Given the description of an element on the screen output the (x, y) to click on. 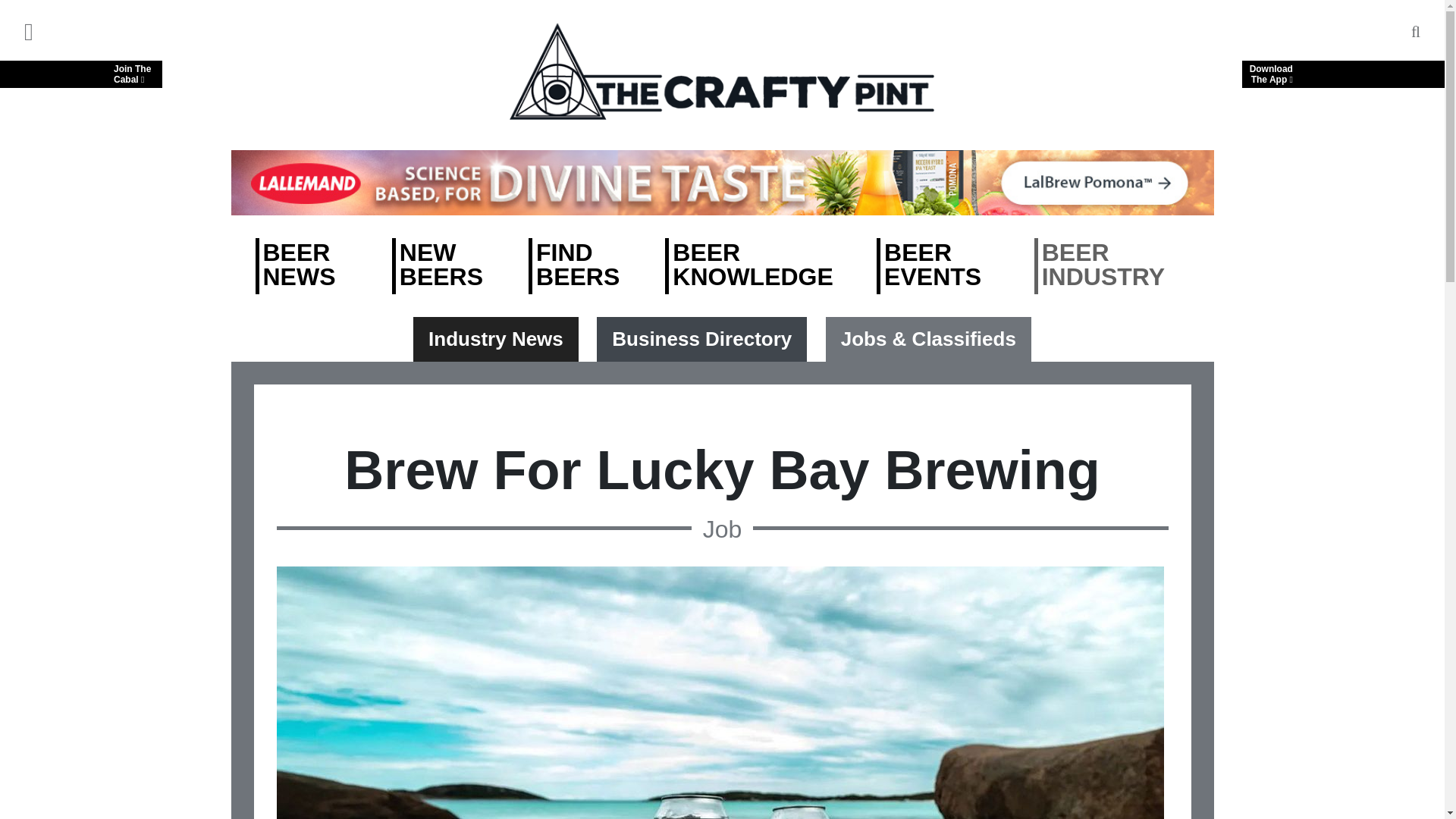
Lallemand Pomona A (80, 73)
